Given the description of an element on the screen output the (x, y) to click on. 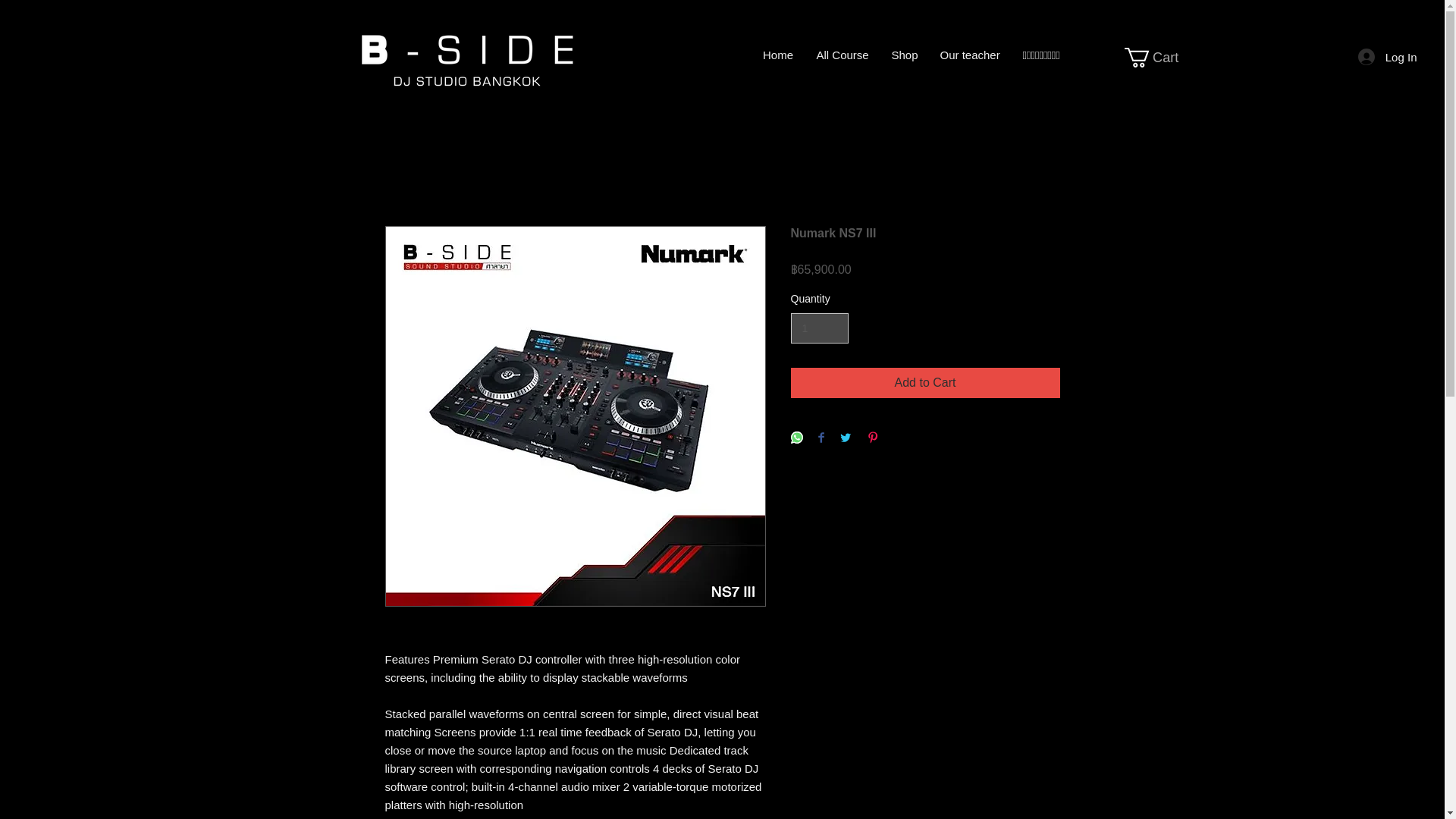
1 (818, 327)
Cart (1161, 57)
Home (778, 54)
Log In (1388, 56)
Our teacher (969, 54)
Cart (1161, 57)
B-SIDE DJ STUDIO (466, 59)
All Course (842, 54)
Shop (903, 54)
Add to Cart (924, 382)
